Given the description of an element on the screen output the (x, y) to click on. 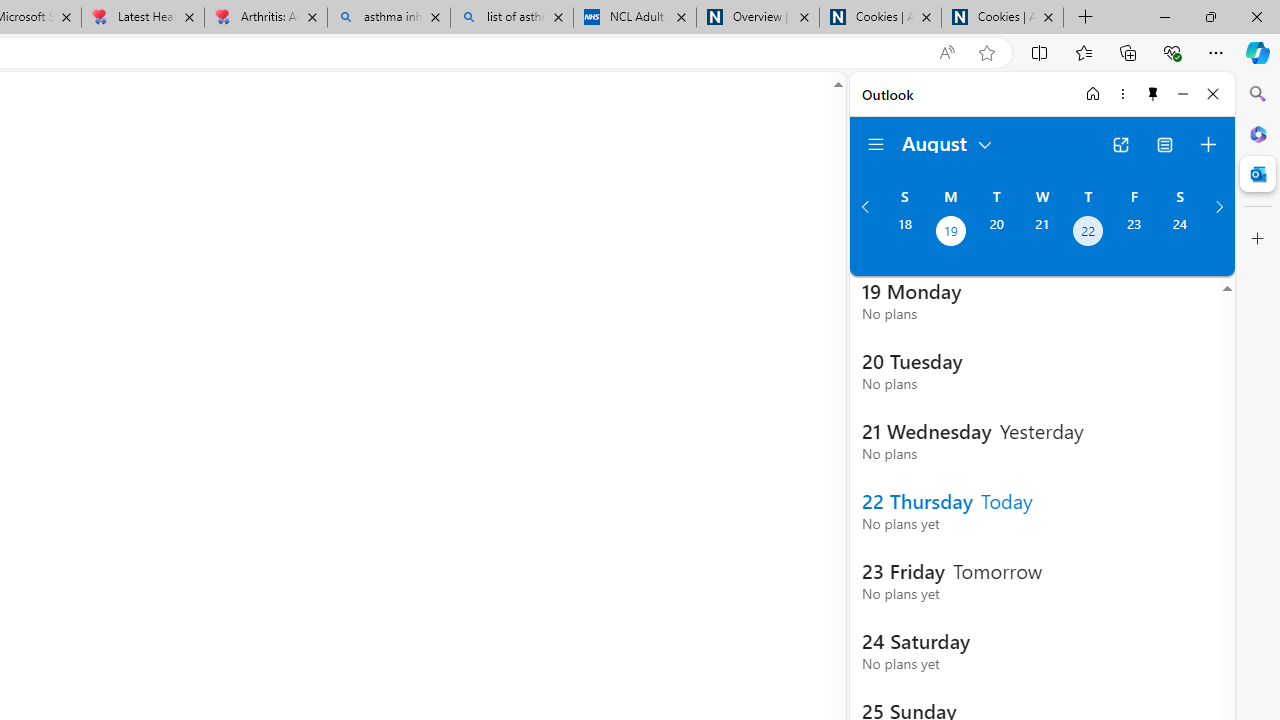
Cookies | About | NICE (1002, 17)
Friday, August 23, 2024.  (1134, 233)
Saturday, August 24, 2024.  (1180, 233)
Tuesday, August 20, 2024.  (996, 233)
Open in new tab (1120, 144)
Create event (1208, 144)
